Given the description of an element on the screen output the (x, y) to click on. 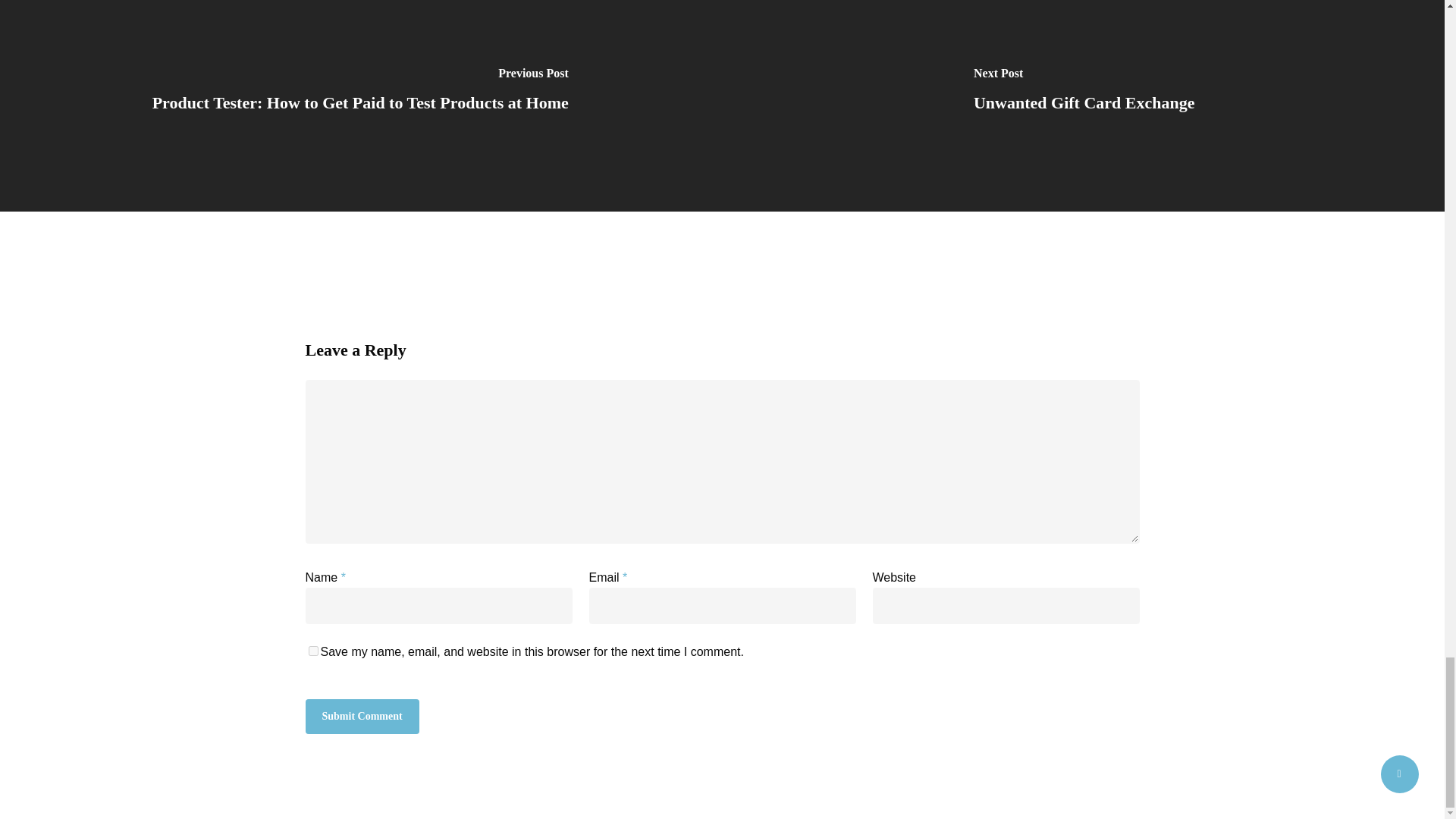
Submit Comment (361, 716)
yes (312, 651)
Submit Comment (361, 716)
